Given the description of an element on the screen output the (x, y) to click on. 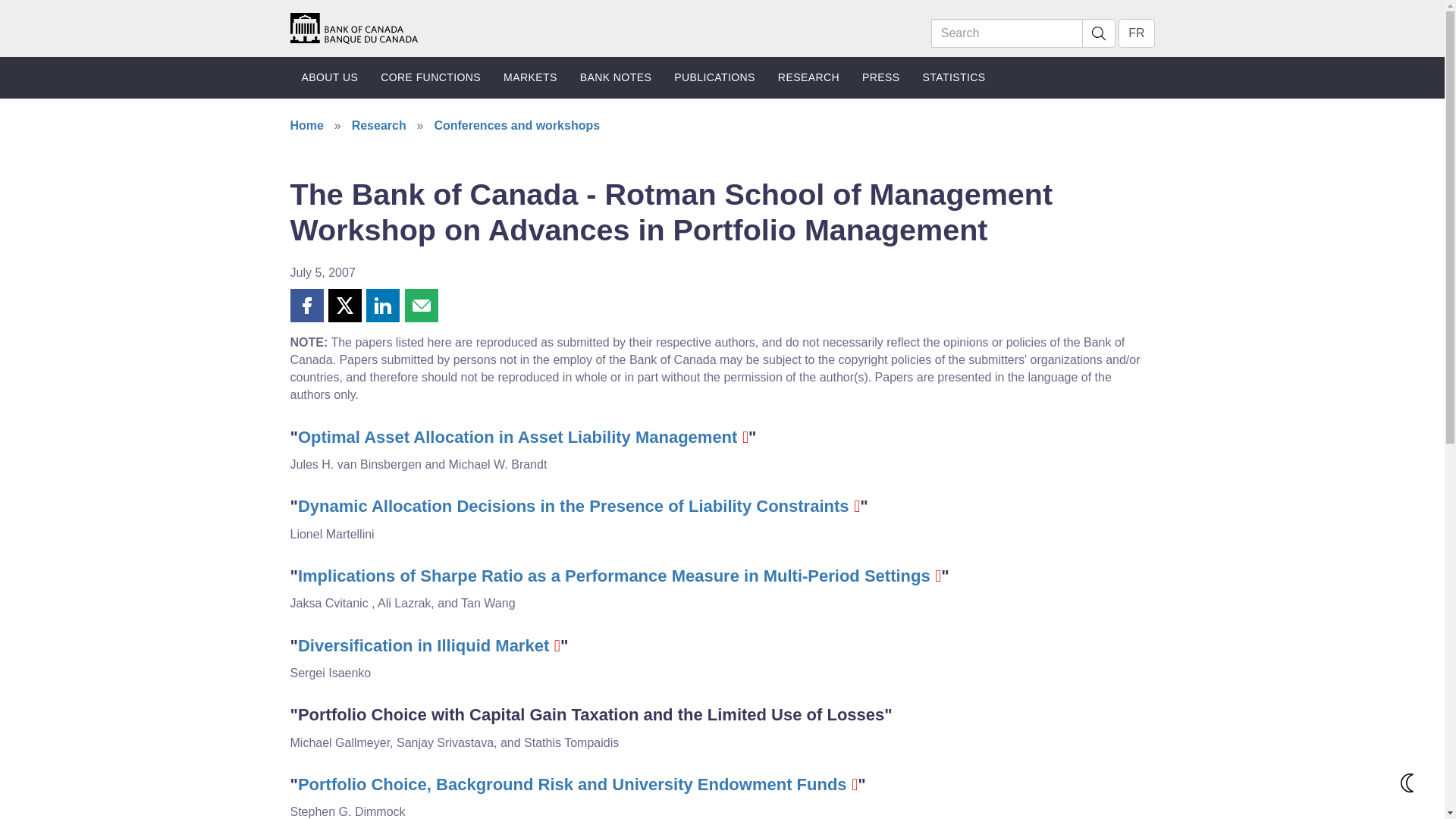
Share this page on LinkedIn (382, 305)
Search (1007, 32)
Share this page on X (345, 305)
Search (1098, 32)
Share this page by email (421, 305)
FR (1136, 32)
MARKETS (530, 77)
ABOUT US (329, 77)
Share this page on Facebook (306, 305)
Home (352, 27)
CORE FUNCTIONS (430, 77)
Home (352, 27)
Home (352, 28)
